Given the description of an element on the screen output the (x, y) to click on. 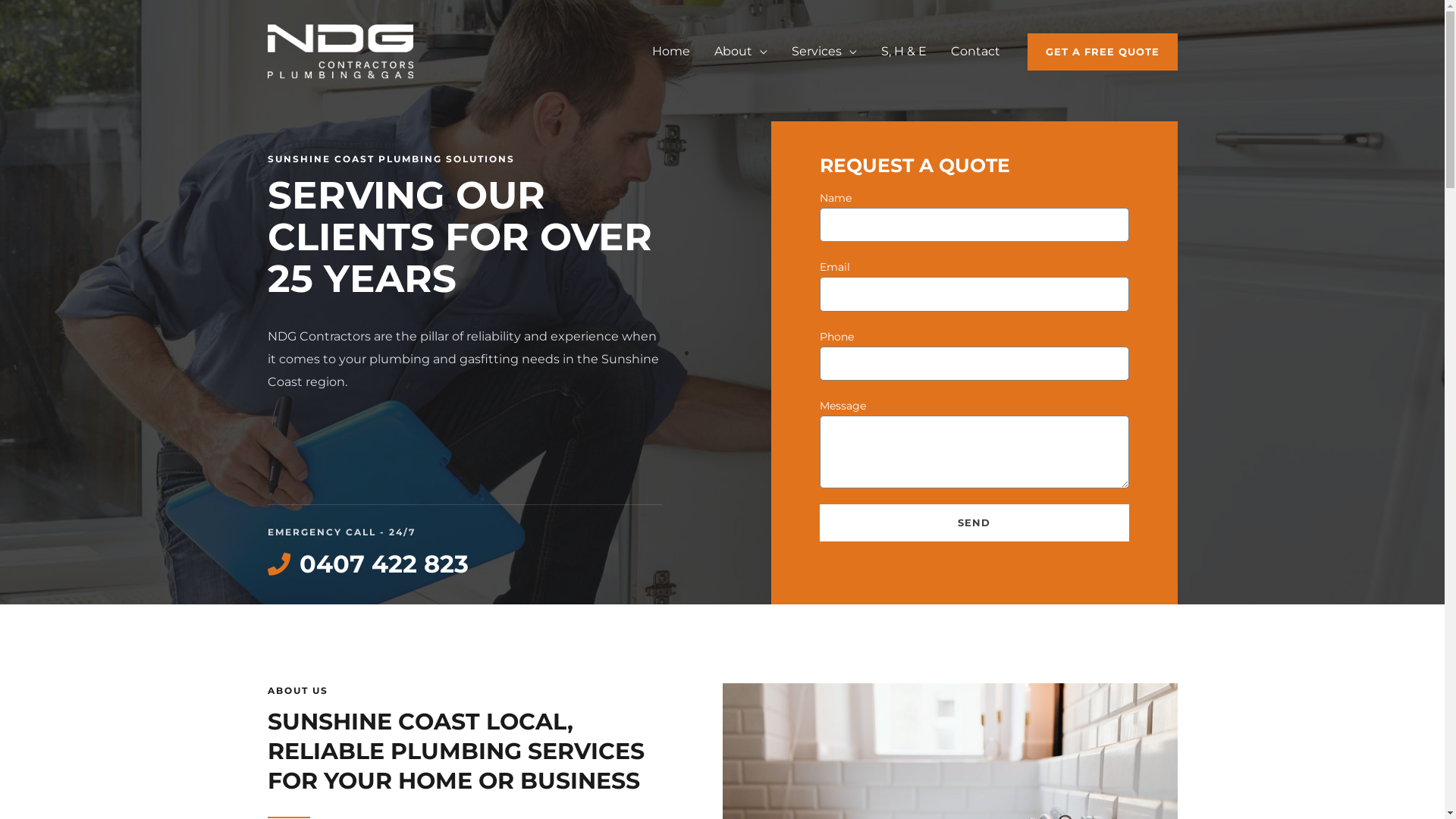
Contact Element type: text (975, 51)
Home Element type: text (671, 51)
GET A FREE QUOTE Element type: text (1101, 51)
S, H & E Element type: text (903, 51)
SEND Element type: text (973, 522)
About Element type: text (740, 51)
Services Element type: text (824, 51)
